Given the description of an element on the screen output the (x, y) to click on. 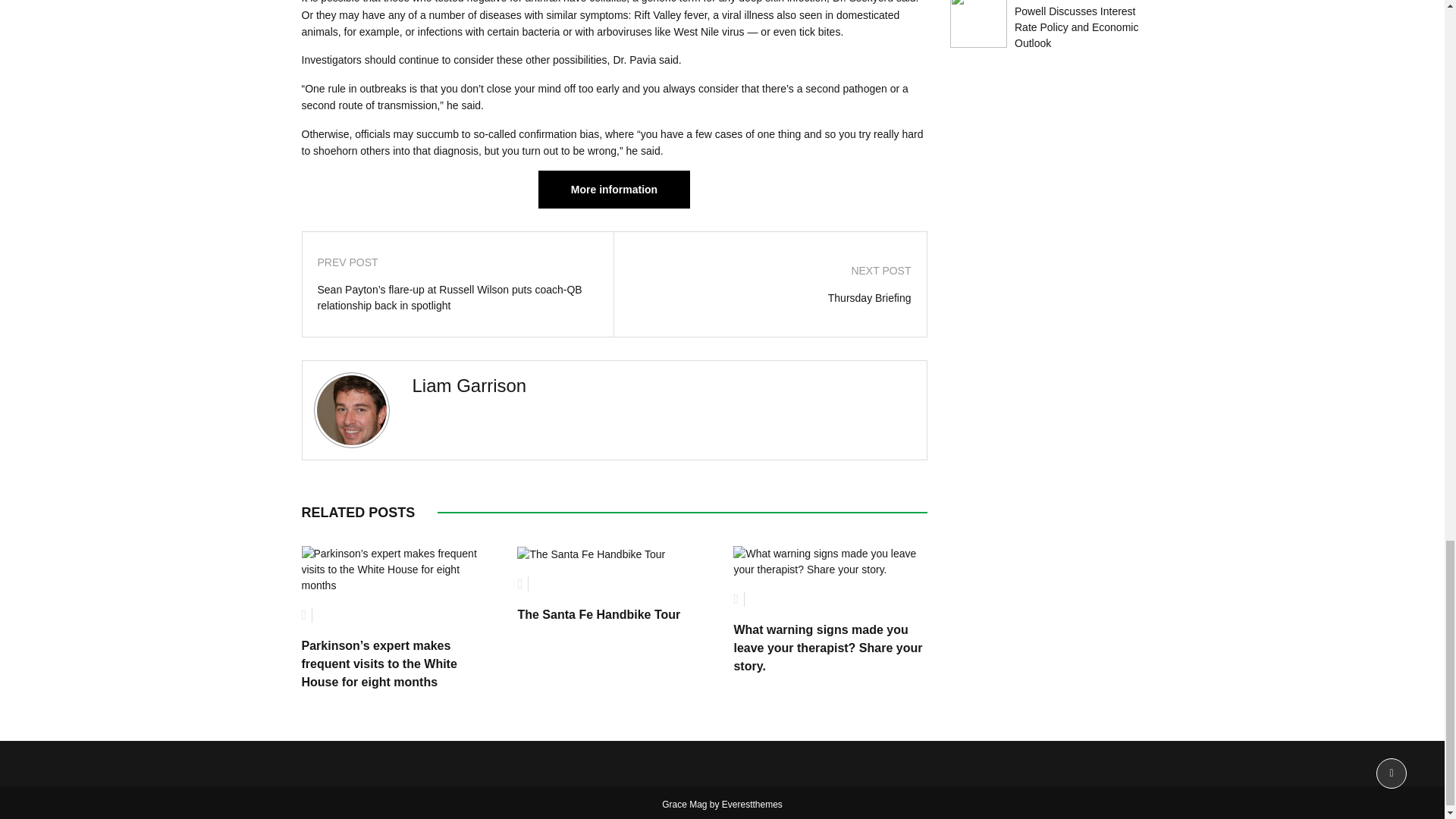
Thursday Briefing (769, 298)
The Santa Fe Handbike Tour (597, 614)
Everestthemes (752, 804)
More information (614, 189)
